Given the description of an element on the screen output the (x, y) to click on. 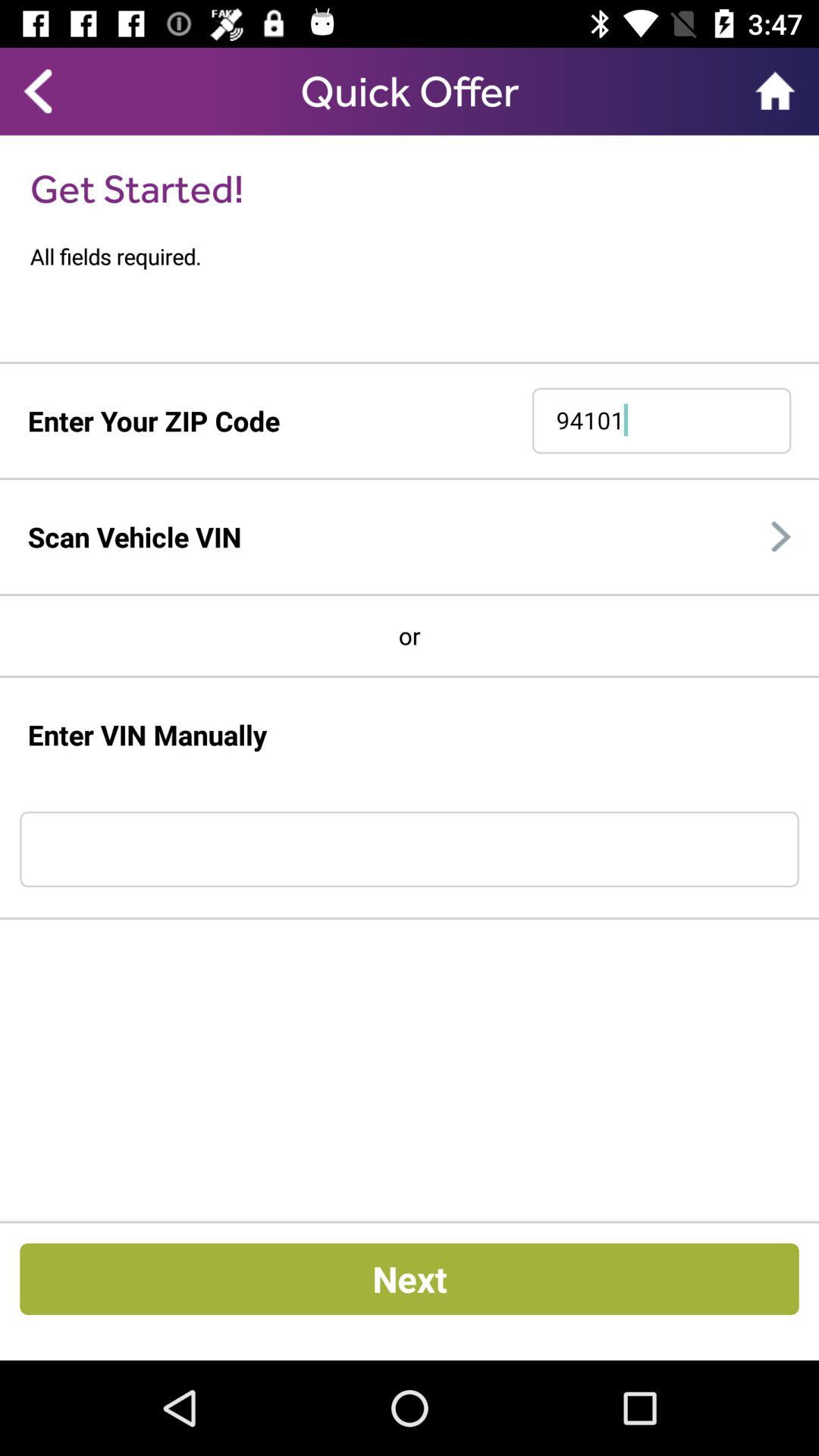
choose item to the right of quick offer item (775, 90)
